Given the description of an element on the screen output the (x, y) to click on. 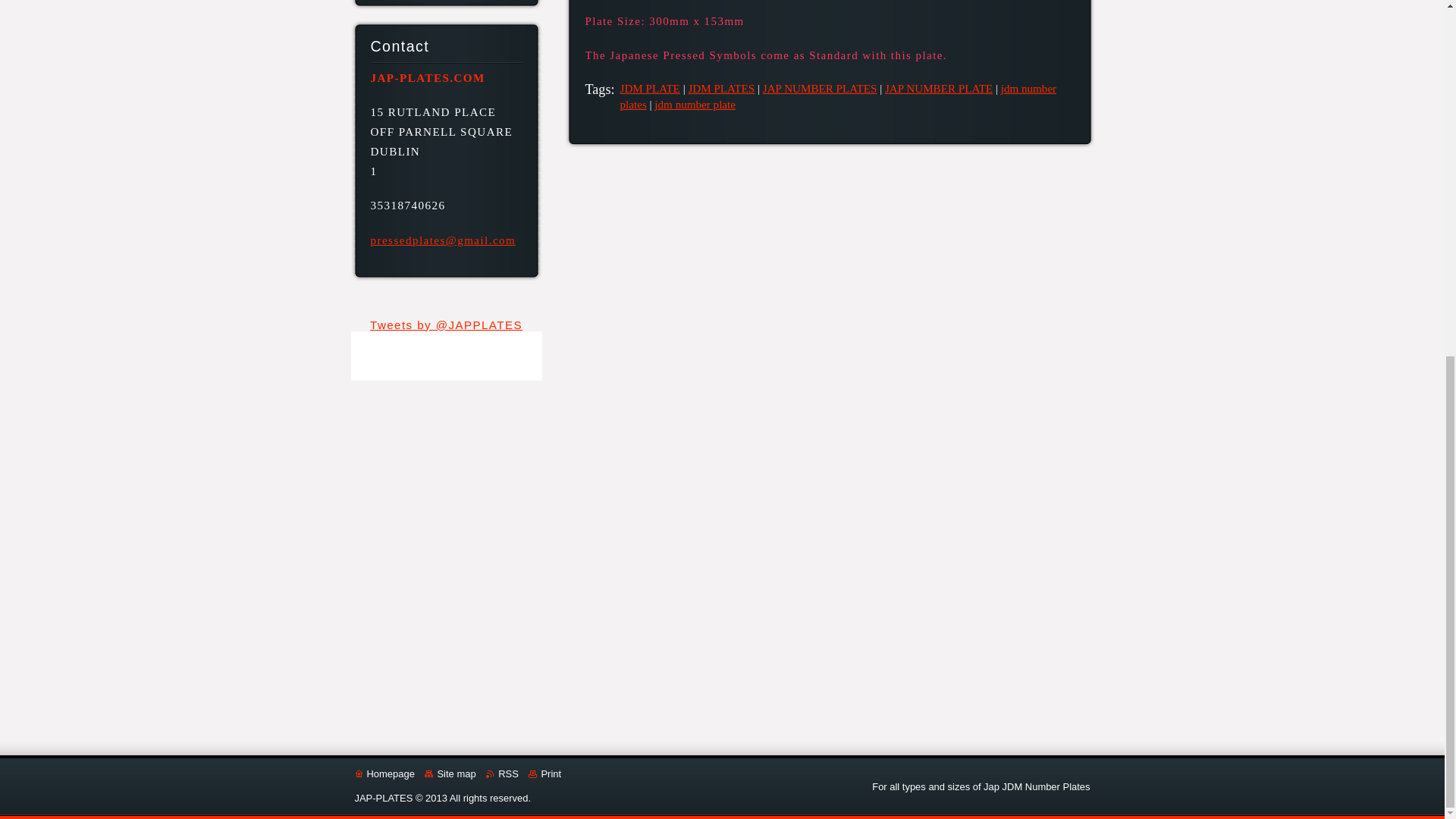
JDM PLATES (720, 88)
Print page (544, 773)
jdm number plates (838, 96)
JDM PLATE (649, 88)
RSS Feeds (502, 773)
Homepage (384, 773)
Go to site map. (450, 773)
Site map (450, 773)
Tags (598, 89)
RSS (502, 773)
jdm number plate (694, 104)
Print (544, 773)
JAP NUMBER PLATE (938, 88)
JAP NUMBER PLATES (819, 88)
Go to Homepage. (384, 773)
